Given the description of an element on the screen output the (x, y) to click on. 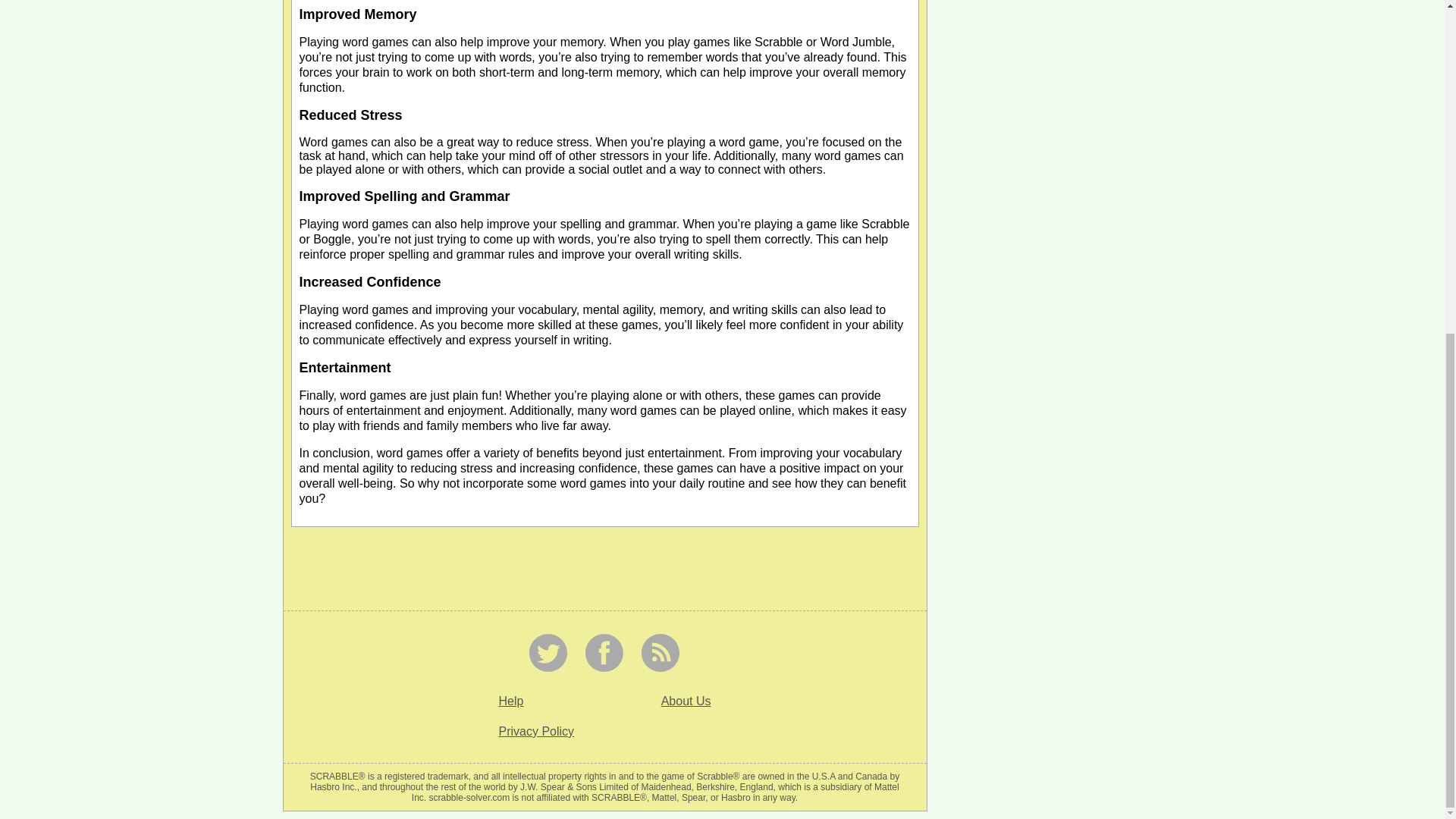
Help (511, 700)
Privacy Policy (537, 730)
About Us (686, 700)
